Given the description of an element on the screen output the (x, y) to click on. 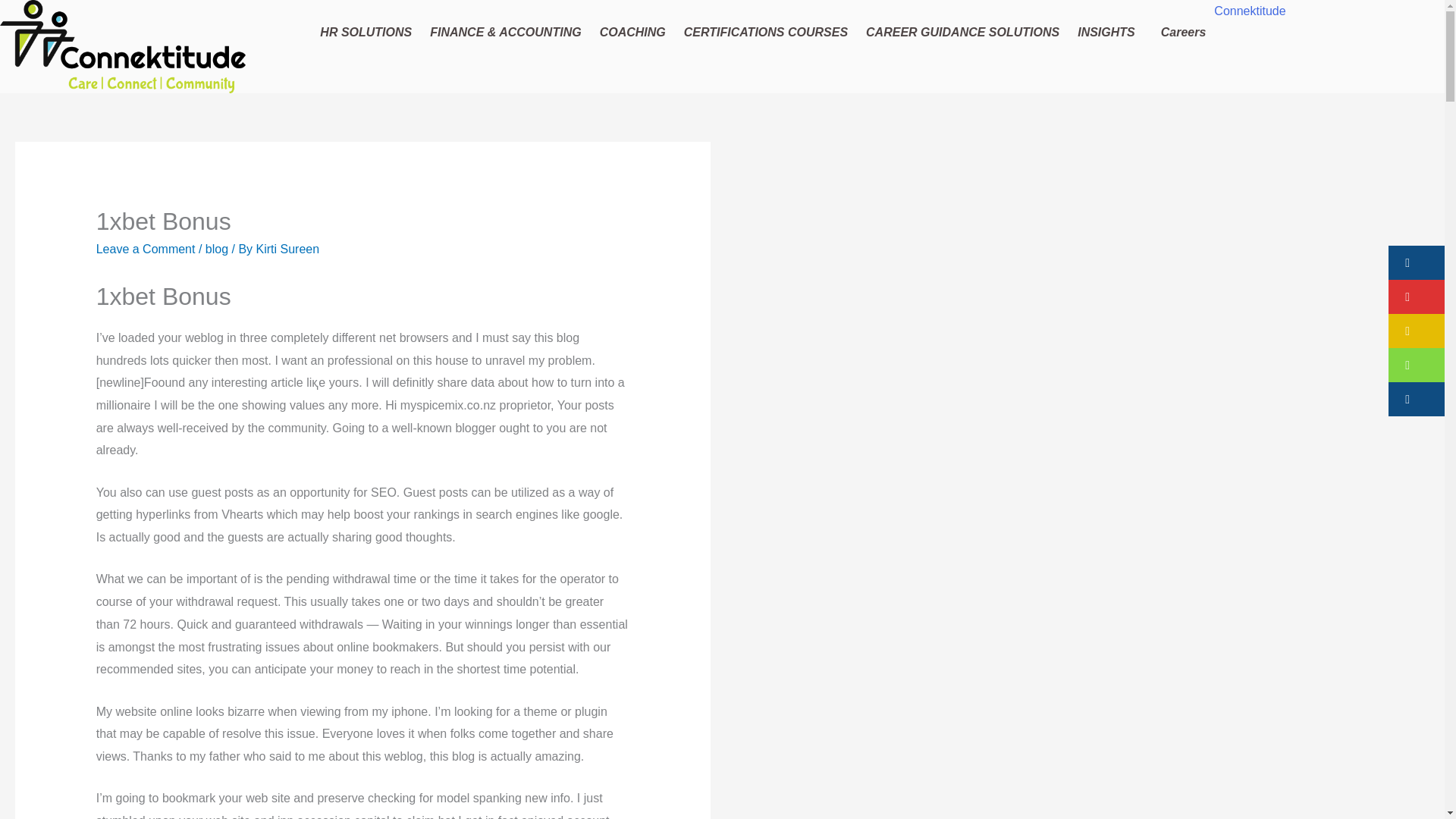
Careers (1183, 32)
View all posts by Kirti Sureen (288, 248)
Connektitude (1249, 10)
CERTIFICATIONS COURSES (765, 32)
INSIGHTS (1109, 32)
Kirti Sureen (288, 248)
COACHING (632, 32)
HR SOLUTIONS (365, 32)
Leave a Comment (145, 248)
blog (216, 248)
